Given the description of an element on the screen output the (x, y) to click on. 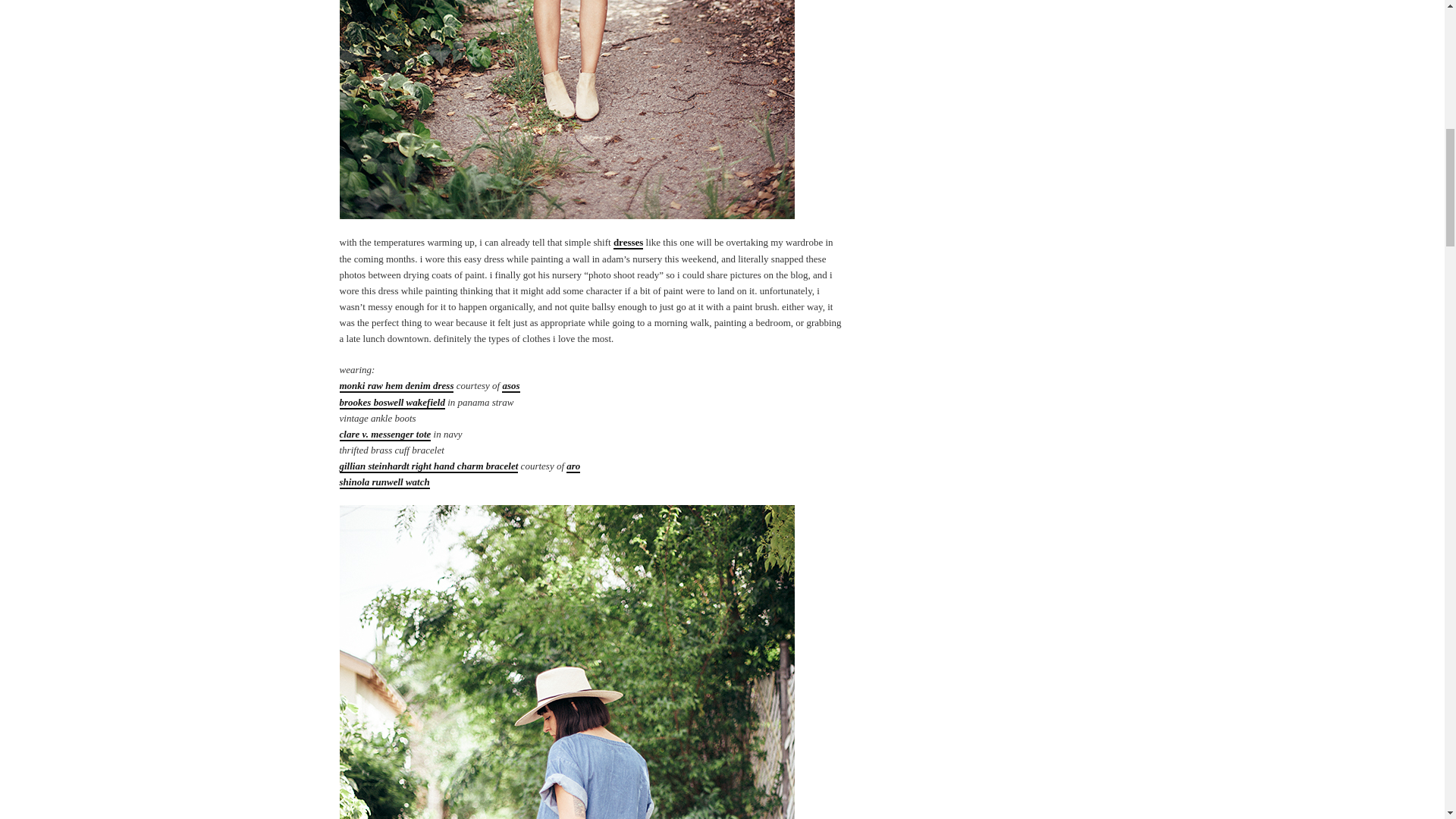
dresses (627, 242)
gillian steinhardt right hand charm bracelet (428, 466)
asos (510, 386)
shinola runwell watch (384, 481)
clare v. messenger tote (384, 434)
brookes boswell wakefield (392, 402)
monki raw hem denim dress (396, 386)
aro (572, 466)
